Given the description of an element on the screen output the (x, y) to click on. 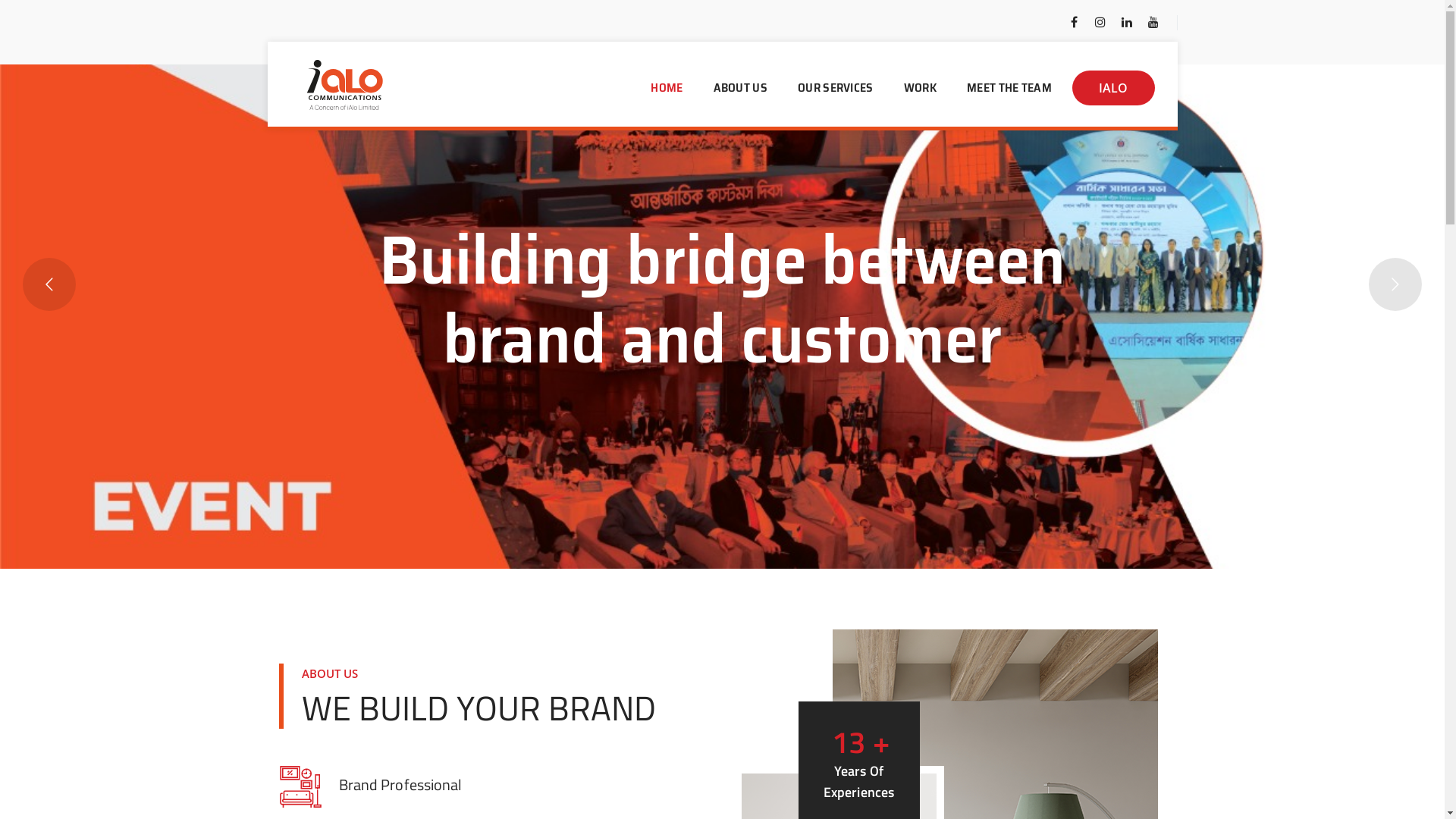
Inoterior Element type: hover (344, 84)
MEET THE TEAM Element type: text (1009, 87)
ABOUT US Element type: text (740, 87)
IALO Element type: text (1113, 87)
OUR SERVICES Element type: text (835, 87)
WORK Element type: text (920, 87)
HOME Element type: text (666, 87)
